Given the description of an element on the screen output the (x, y) to click on. 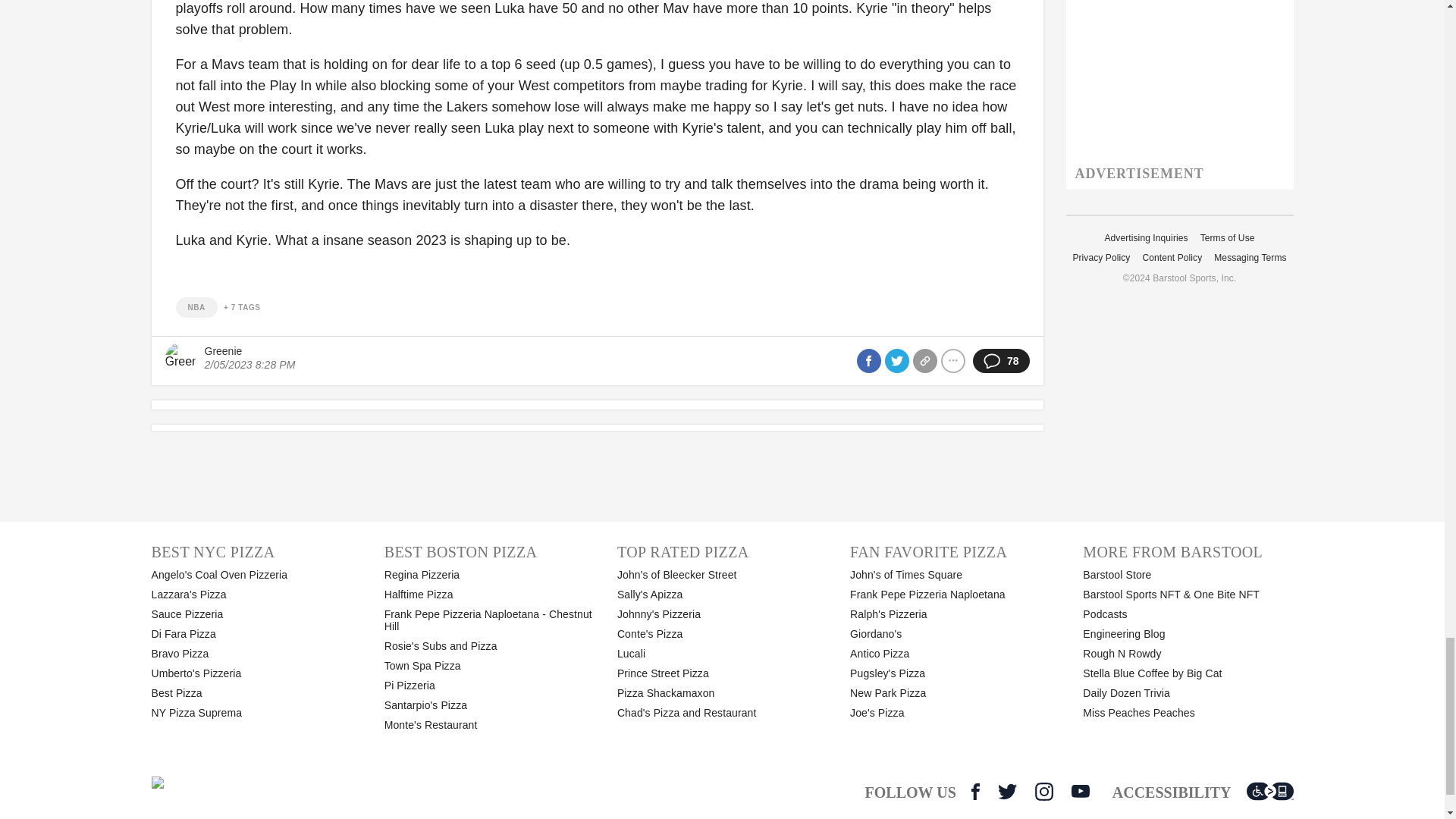
Level Access website accessibility icon (1270, 791)
Twitter Icon (1006, 791)
Facebook Icon (975, 791)
YouTube Icon (1080, 790)
Instagram Icon (1043, 791)
